Given the description of an element on the screen output the (x, y) to click on. 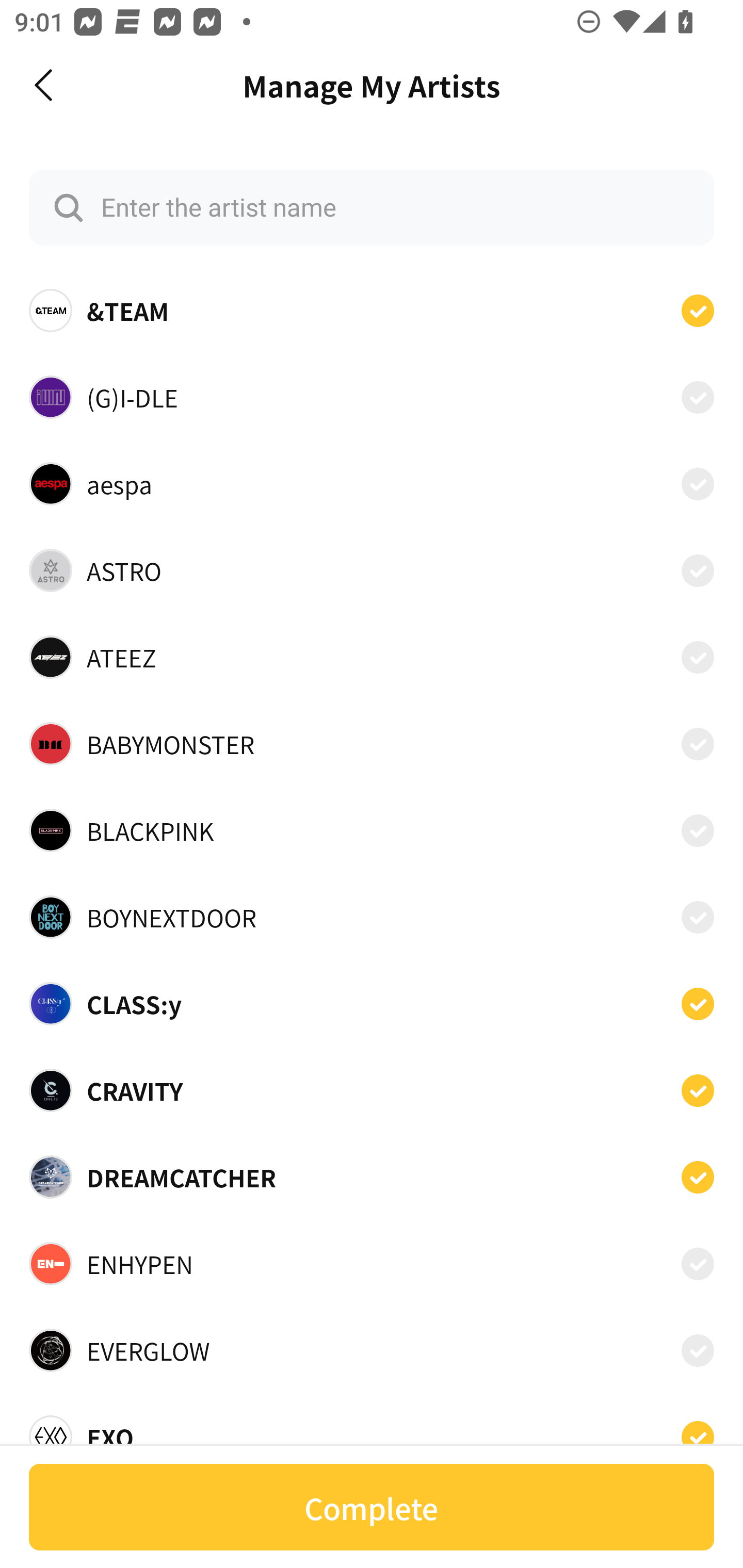
Enter the artist name (371, 207)
&TEAM (371, 310)
(G)I-DLE (371, 396)
aespa (371, 483)
ASTRO (371, 570)
ATEEZ (371, 656)
BABYMONSTER (371, 743)
BLACKPINK (371, 830)
BOYNEXTDOOR (371, 917)
CLASS:y (371, 1003)
CRAVITY (371, 1090)
DREAMCATCHER (371, 1176)
ENHYPEN (371, 1263)
EVERGLOW (371, 1350)
EXO (371, 1430)
Complete (371, 1507)
